Given the description of an element on the screen output the (x, y) to click on. 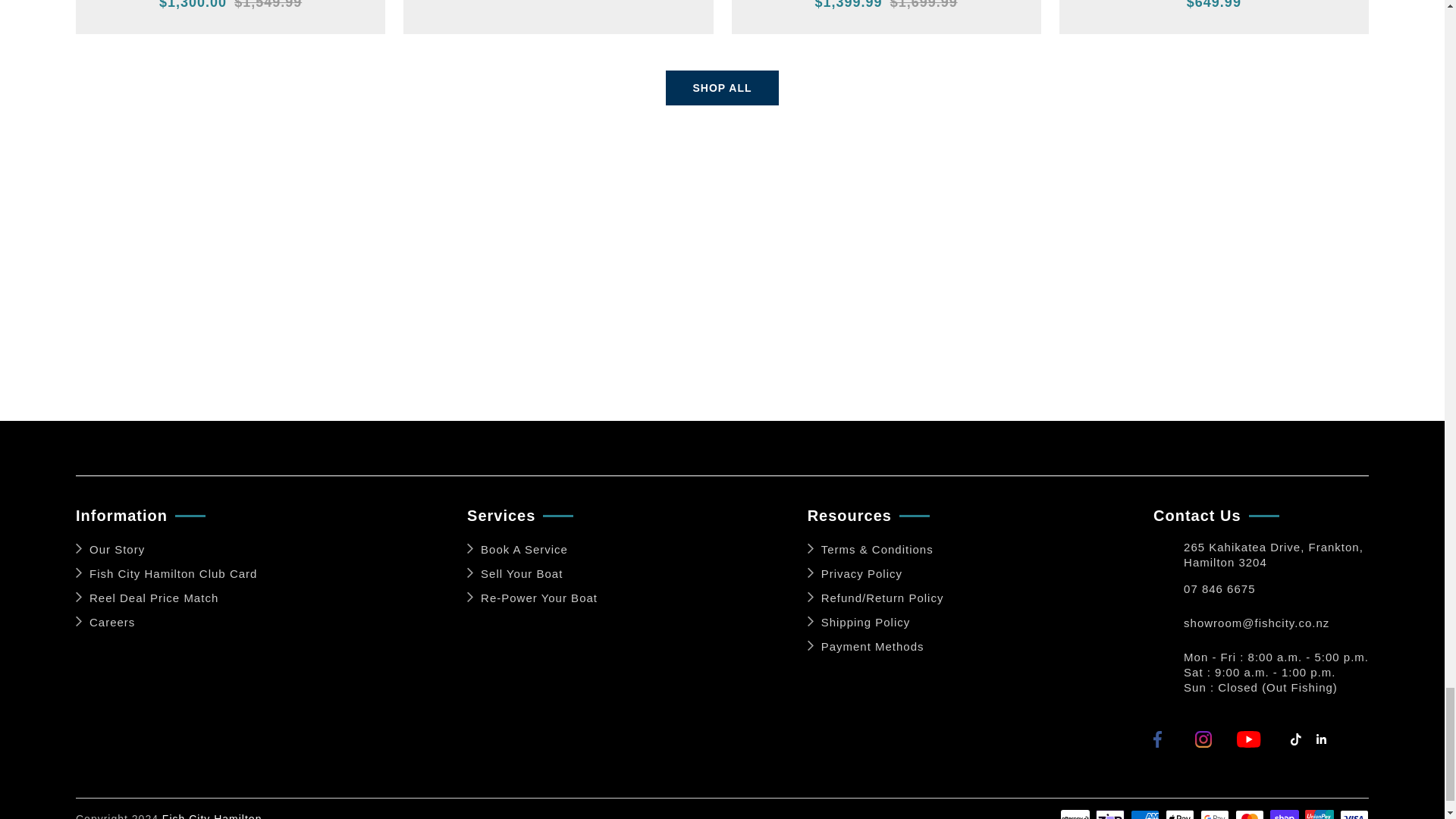
07 846 6675 (1219, 592)
Contact Us (1168, 592)
Contact Us (1168, 554)
Contact Us (1168, 626)
